Given the description of an element on the screen output the (x, y) to click on. 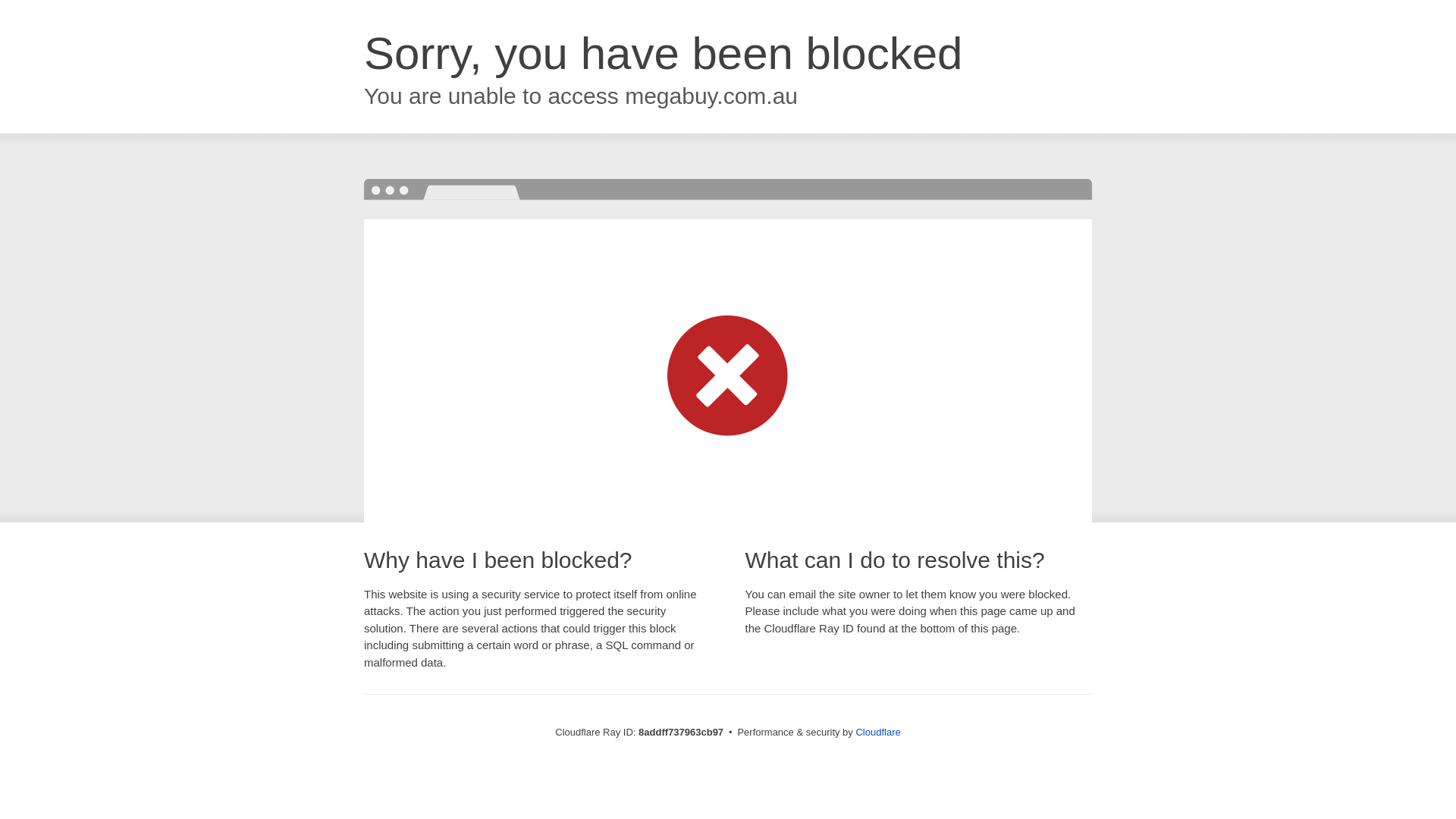
Cloudflare (877, 731)
